Given the description of an element on the screen output the (x, y) to click on. 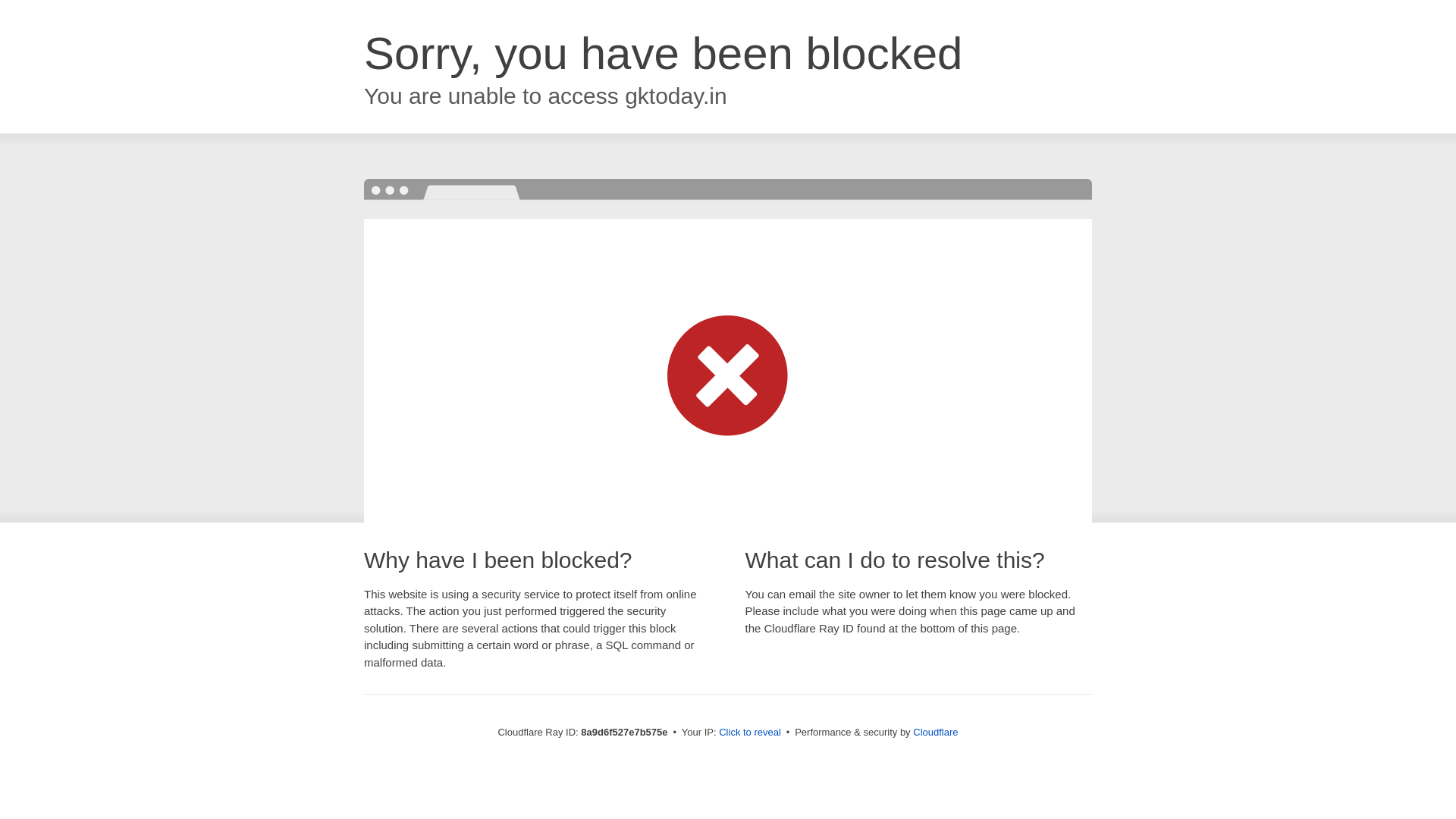
Click to reveal (749, 732)
Cloudflare (935, 731)
